Given the description of an element on the screen output the (x, y) to click on. 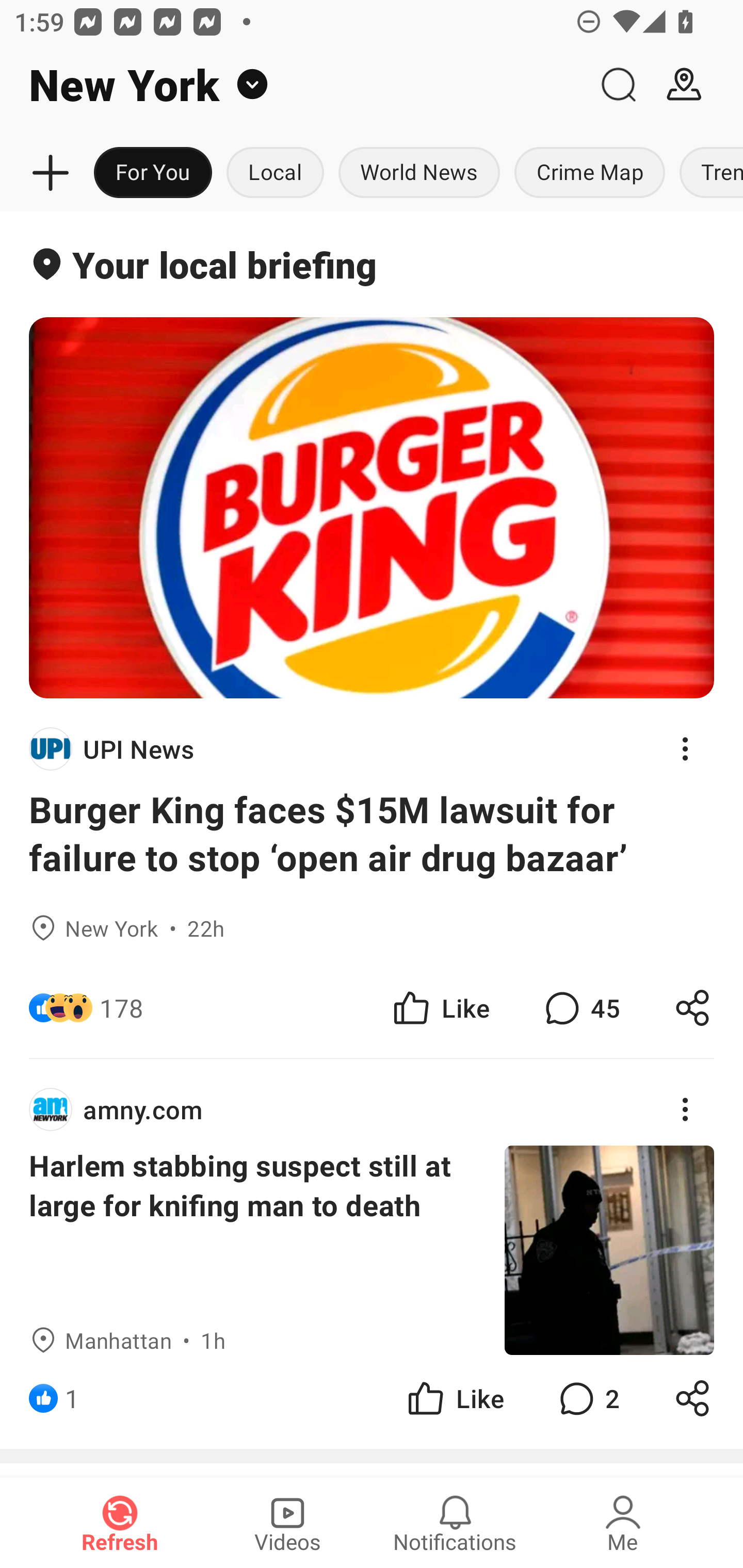
New York (292, 84)
For You (152, 172)
Local (275, 172)
World News (419, 172)
Crime Map (589, 172)
178 (121, 1007)
Like (439, 1007)
45 (579, 1007)
1 (72, 1397)
Like (454, 1397)
2 (587, 1397)
Videos (287, 1522)
Notifications (455, 1522)
Me (622, 1522)
